Given the description of an element on the screen output the (x, y) to click on. 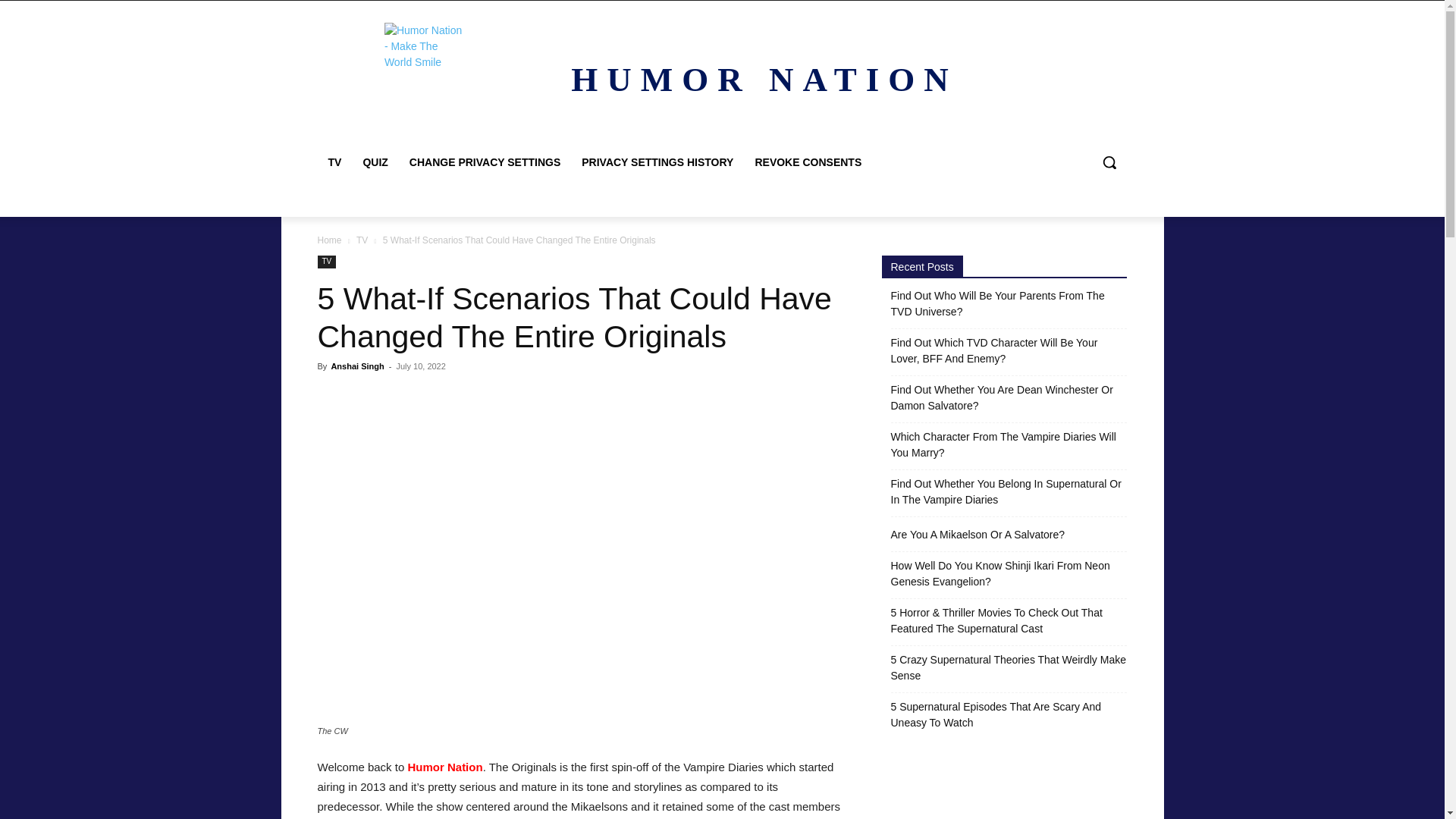
Humor Nation (444, 766)
Which Character From The Vampire Diaries Will You Marry? (1007, 445)
Humor Nation - Make The World Smile (425, 61)
Home (328, 240)
Find Out Who Will Be Your Parents From The TVD Universe? (1007, 304)
QUIZ (374, 162)
Anshai Singh (357, 366)
Are You A Mikaelson Or A Salvatore? (976, 534)
